Given the description of an element on the screen output the (x, y) to click on. 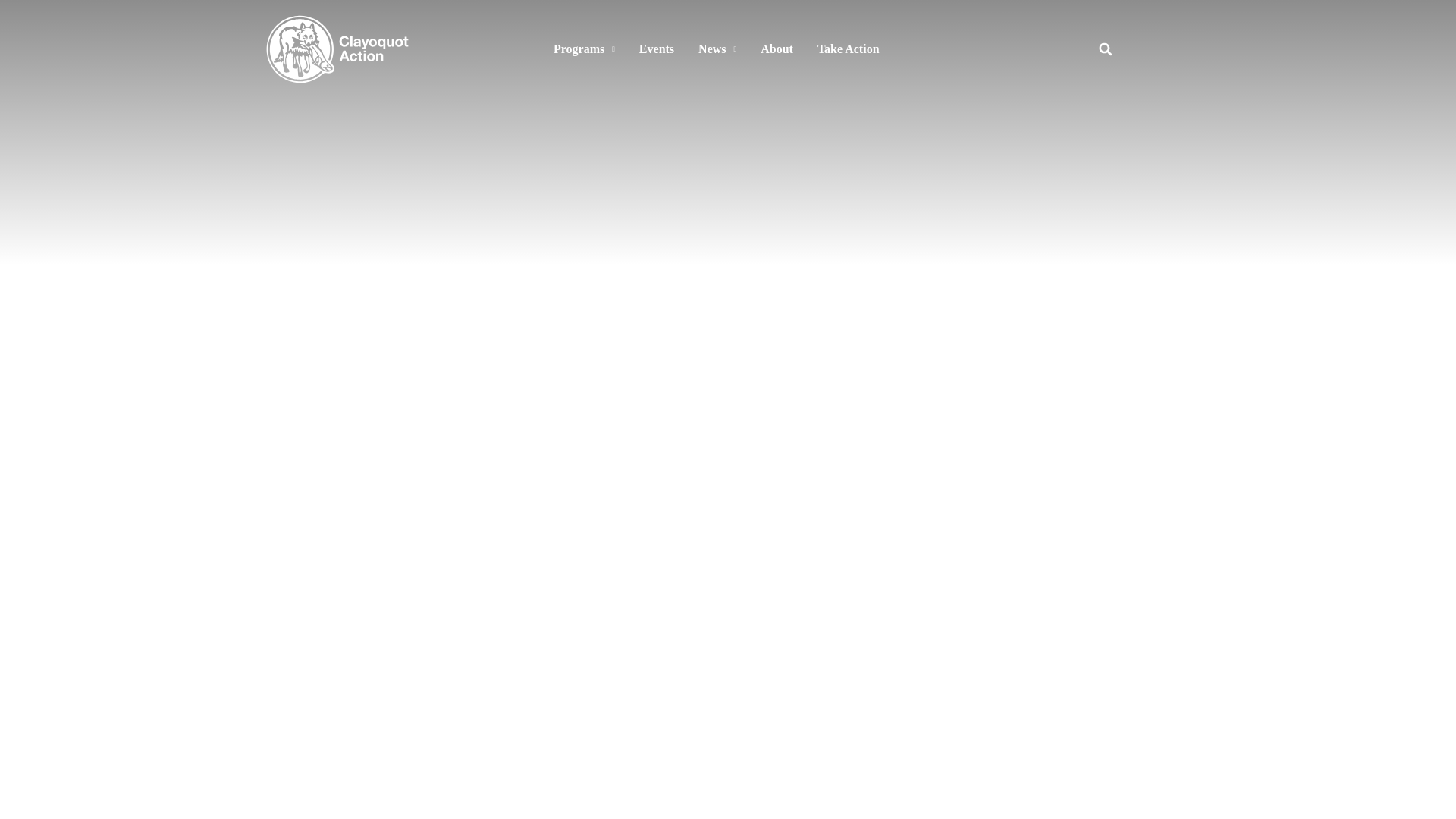
About (776, 49)
Events (656, 49)
Take Action (848, 49)
Programs (584, 49)
News (716, 49)
